Given the description of an element on the screen output the (x, y) to click on. 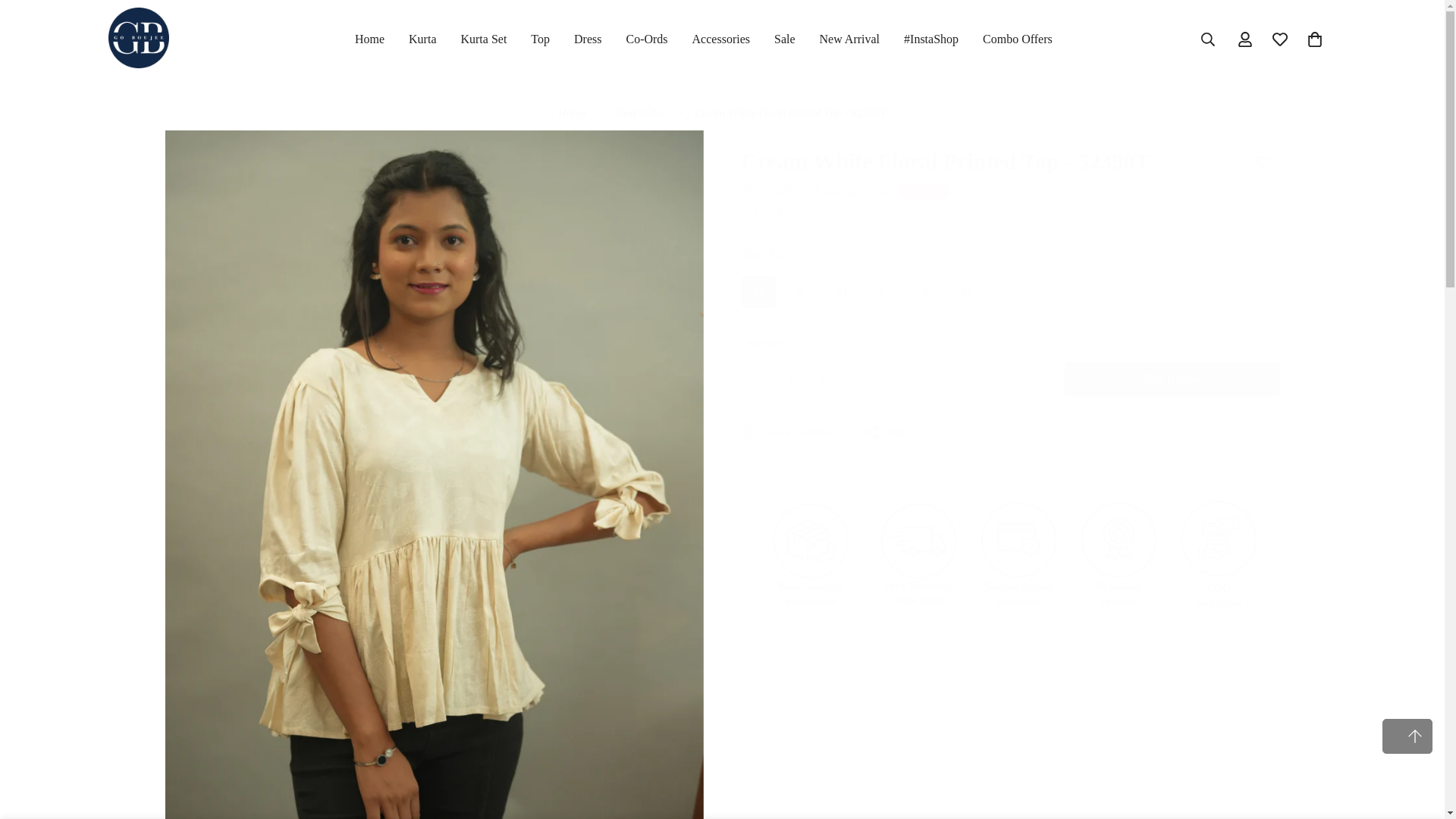
Best Seller (640, 113)
Home (571, 113)
Top (540, 39)
Sale (784, 39)
Back to the home page (571, 113)
1 (789, 378)
Combo Offers (1017, 39)
